Given the description of an element on the screen output the (x, y) to click on. 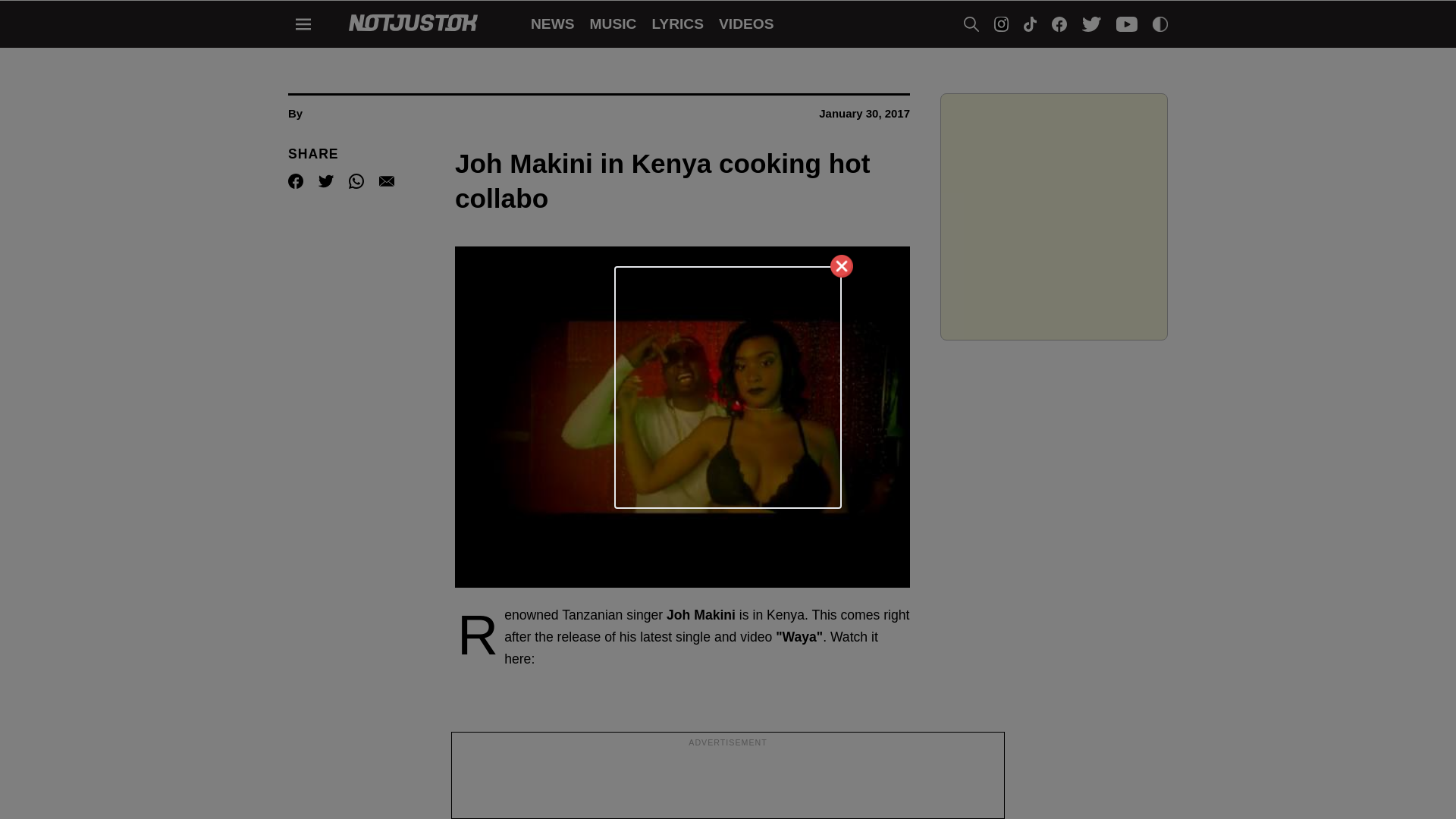
NEWS (553, 23)
LYRICS (676, 23)
VIDEOS (746, 23)
MUSIC (613, 23)
